Given the description of an element on the screen output the (x, y) to click on. 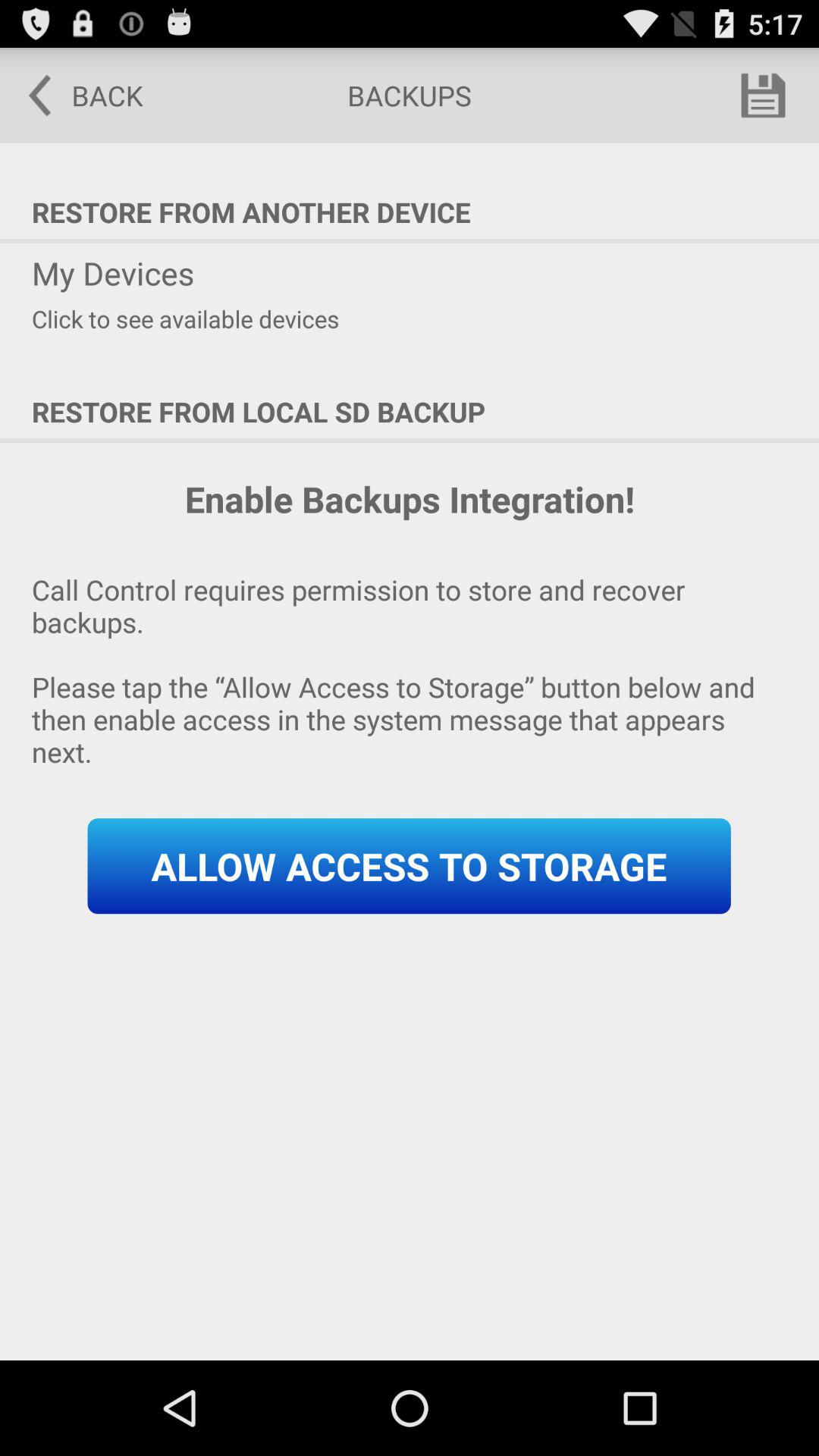
open the item above restore from another icon (75, 95)
